Given the description of an element on the screen output the (x, y) to click on. 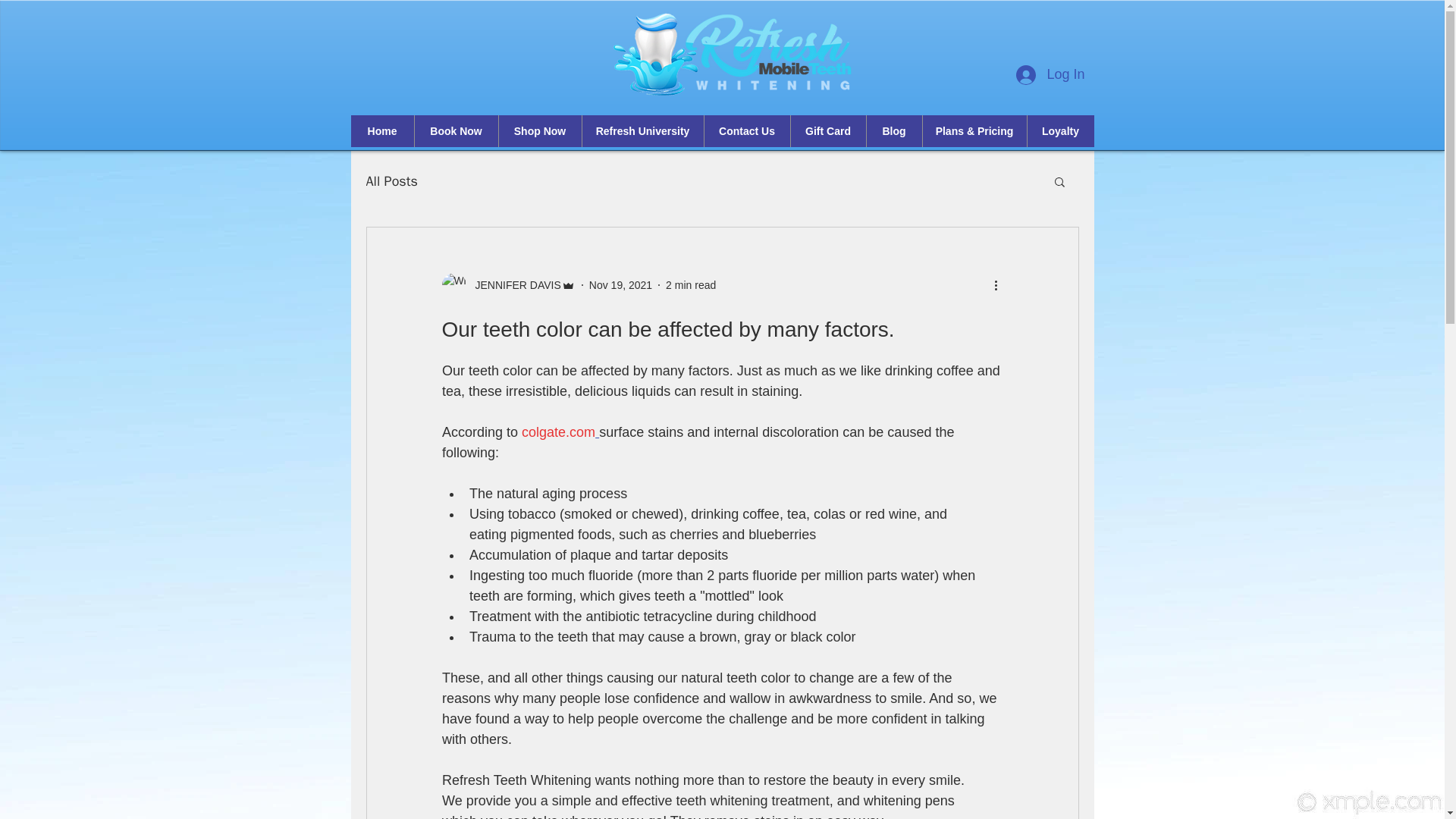
Gift Card (828, 131)
Loyalty (1060, 131)
Book Now (455, 131)
Nov 19, 2021 (620, 285)
Log In (1050, 74)
All Posts (390, 180)
Blog (893, 131)
JENNIFER DAVIS (508, 284)
Contact Us (746, 131)
Shop Now (538, 131)
2 min read (690, 285)
colgate.com (558, 432)
Refresh University (641, 131)
JENNIFER DAVIS (512, 285)
